Given the description of an element on the screen output the (x, y) to click on. 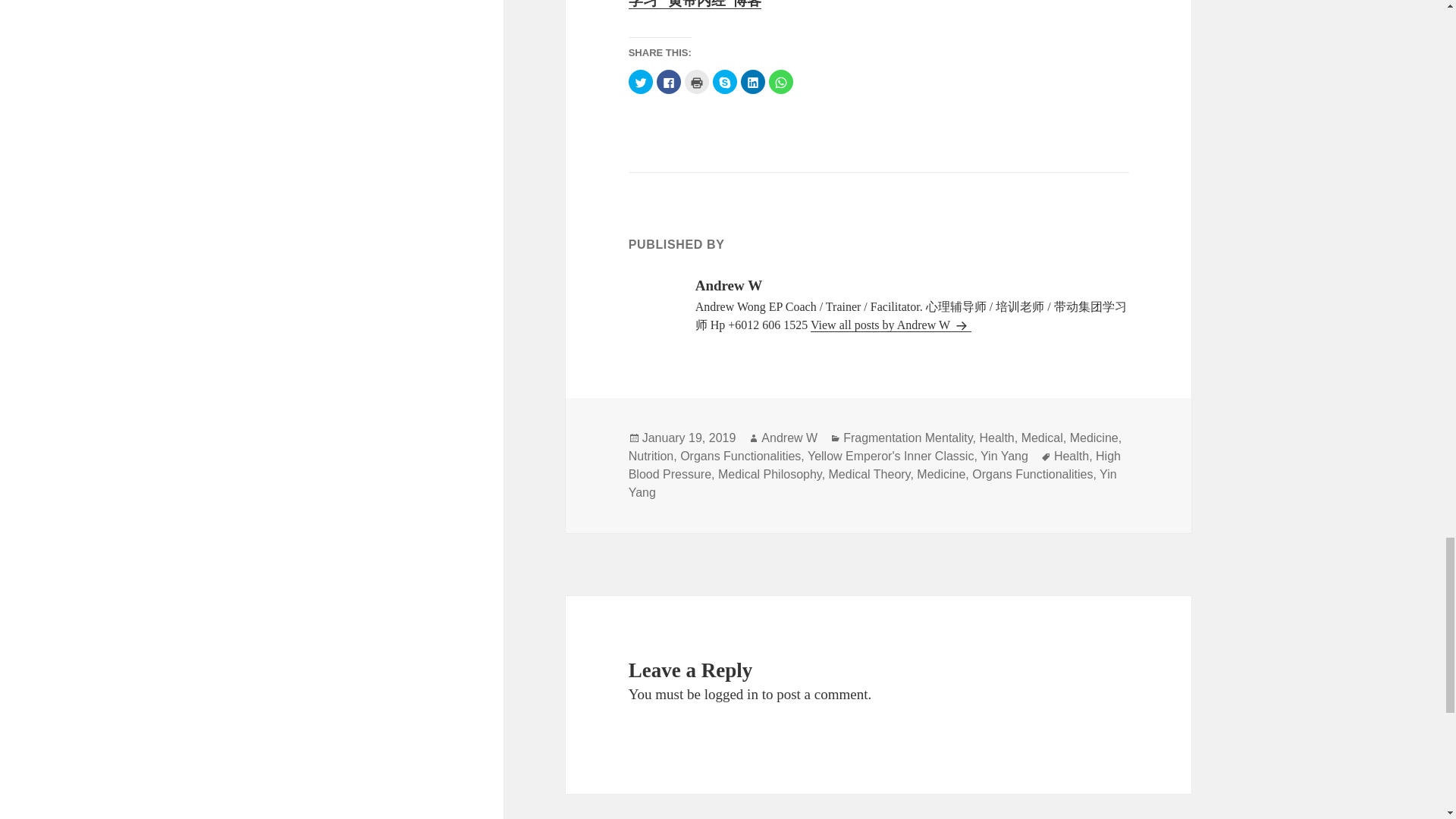
Medical (1042, 438)
Health (995, 438)
Click to share on WhatsApp (780, 81)
Click to share on LinkedIn (753, 81)
View all posts by Andrew W (890, 325)
Andrew W (788, 438)
Medicine (1094, 438)
Click to share on Skype (724, 81)
Click to share on Twitter (640, 81)
Click to share on Facebook (668, 81)
